Given the description of an element on the screen output the (x, y) to click on. 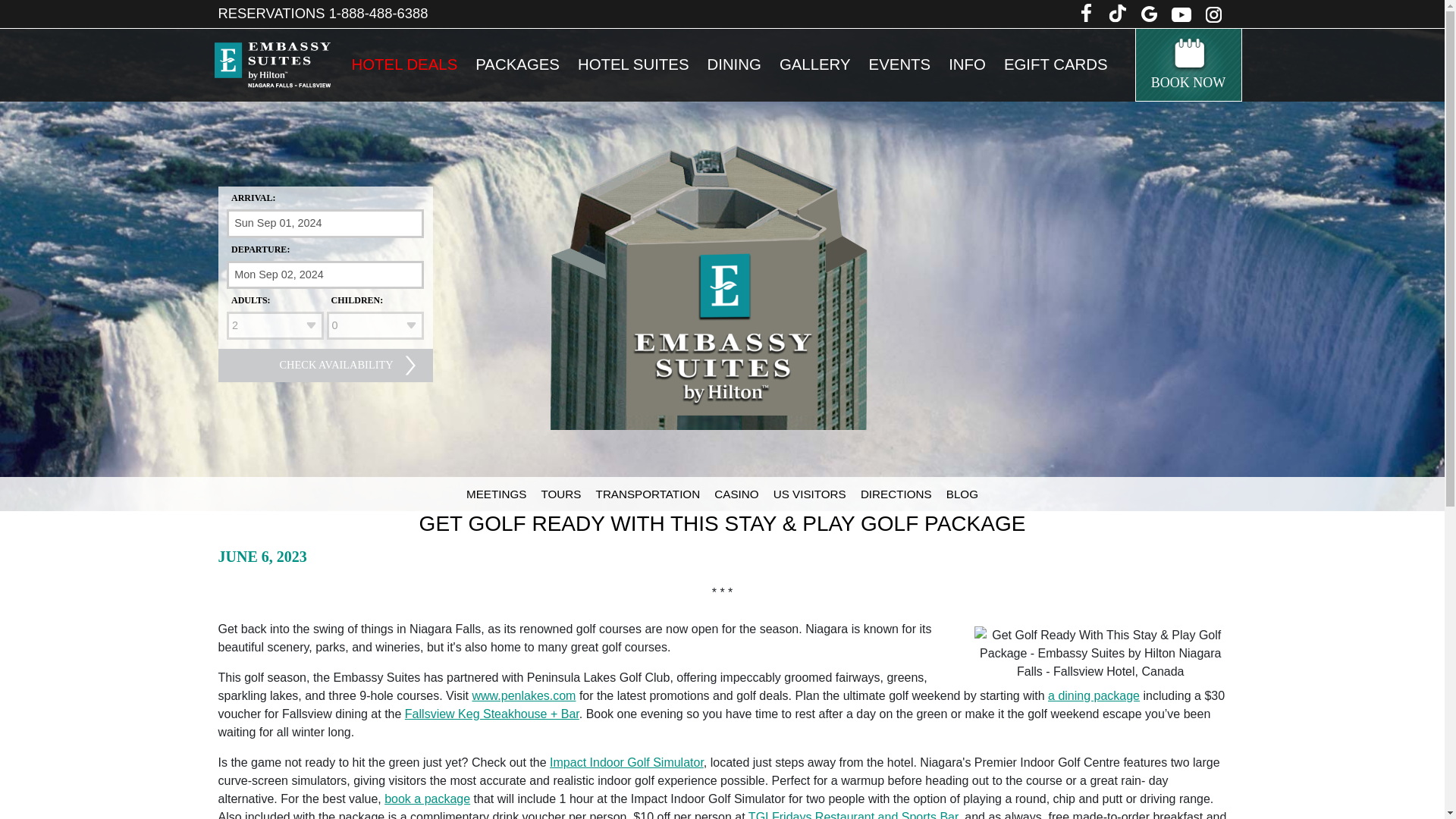
Dining (733, 65)
INFO (966, 65)
Packages (517, 65)
FOLLOW US ON GOOGLE (1147, 13)
MEETINGS (496, 493)
US VISITORS (809, 493)
Events (900, 65)
Gallery (815, 65)
PACKAGES (517, 65)
